Given the description of an element on the screen output the (x, y) to click on. 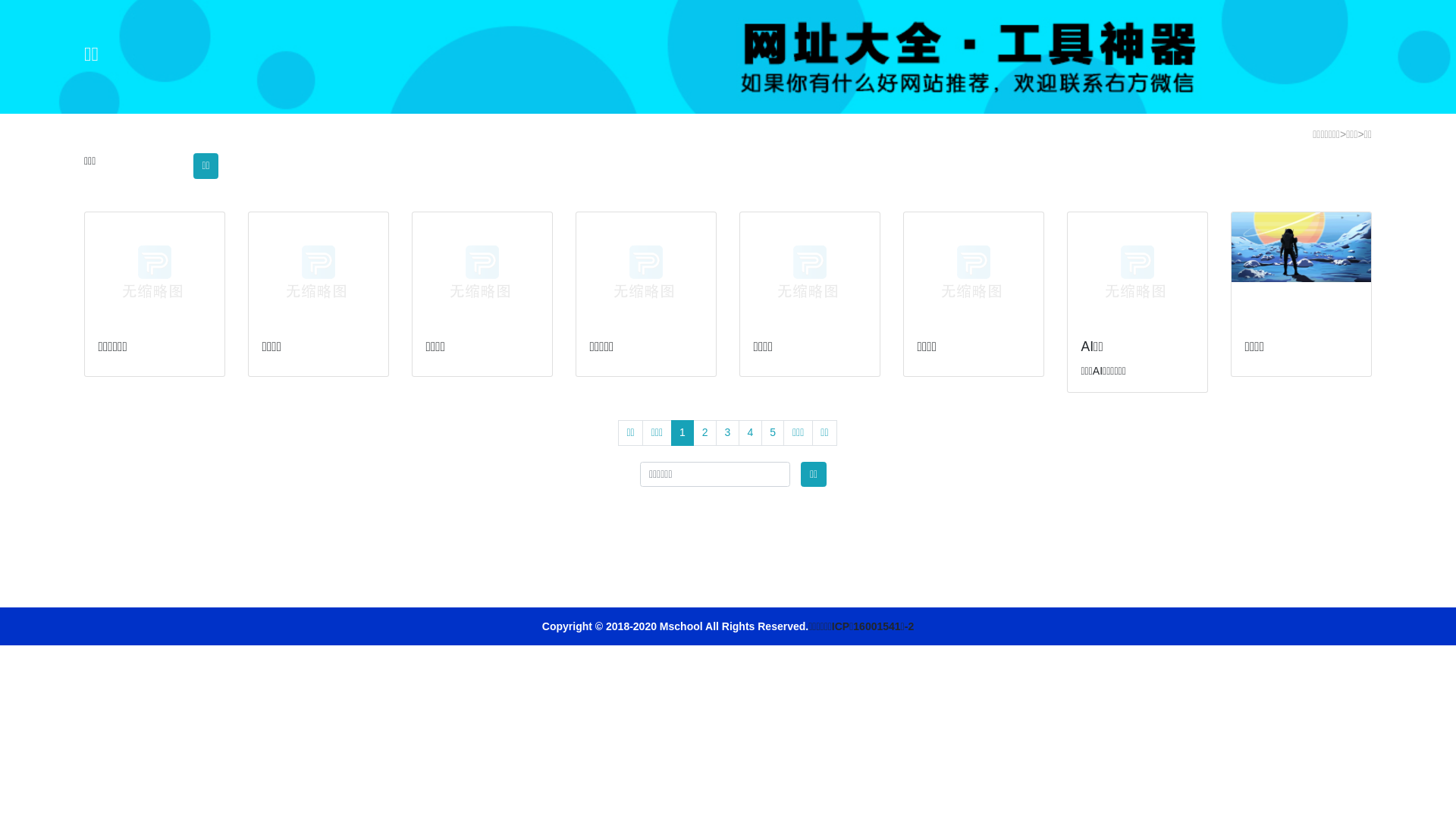
4 Element type: text (750, 432)
3 Element type: text (727, 432)
5 Element type: text (772, 432)
1 Element type: text (681, 432)
2 Element type: text (704, 432)
